Given the description of an element on the screen output the (x, y) to click on. 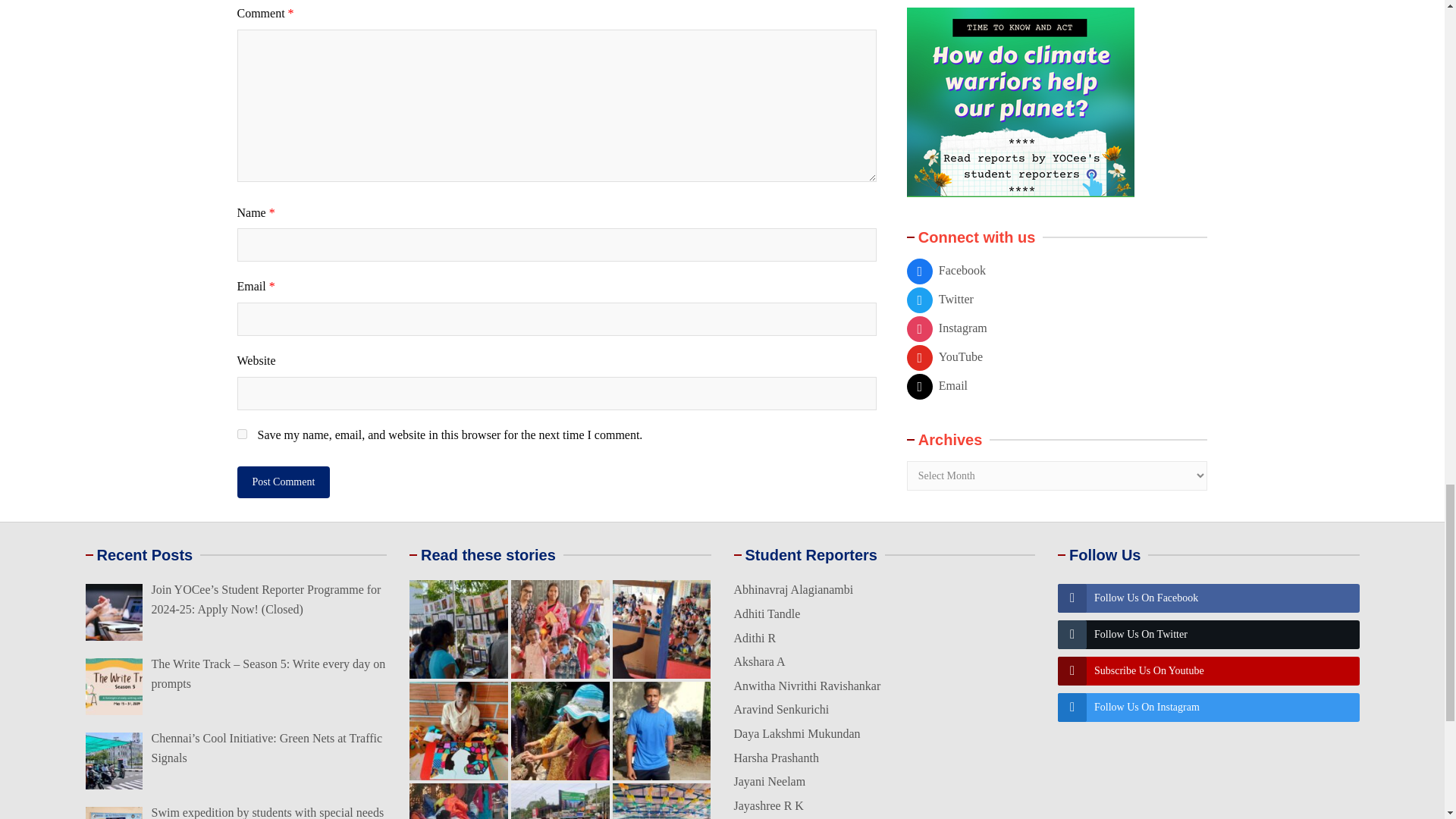
yes (240, 433)
Post Comment (282, 481)
